Given the description of an element on the screen output the (x, y) to click on. 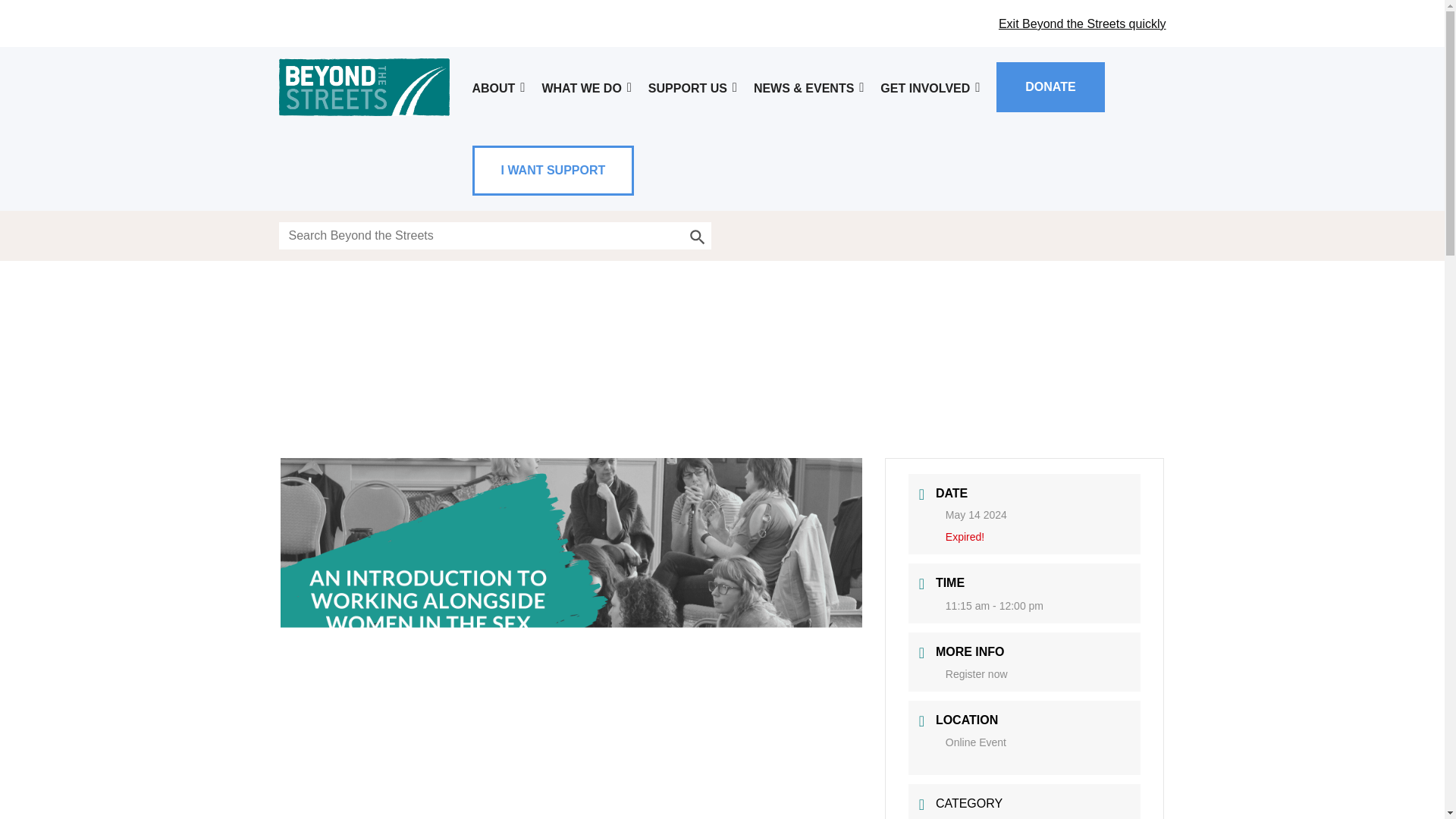
WHAT WE DO (586, 87)
GET INVOLVED (930, 87)
I WANT SUPPORT (552, 170)
Search Button (697, 235)
About (498, 87)
SUPPORT US (692, 87)
ABOUT (498, 87)
Exit Beyond the Streets quickly (1082, 23)
What we do (586, 87)
DONATE (1050, 86)
